Given the description of an element on the screen output the (x, y) to click on. 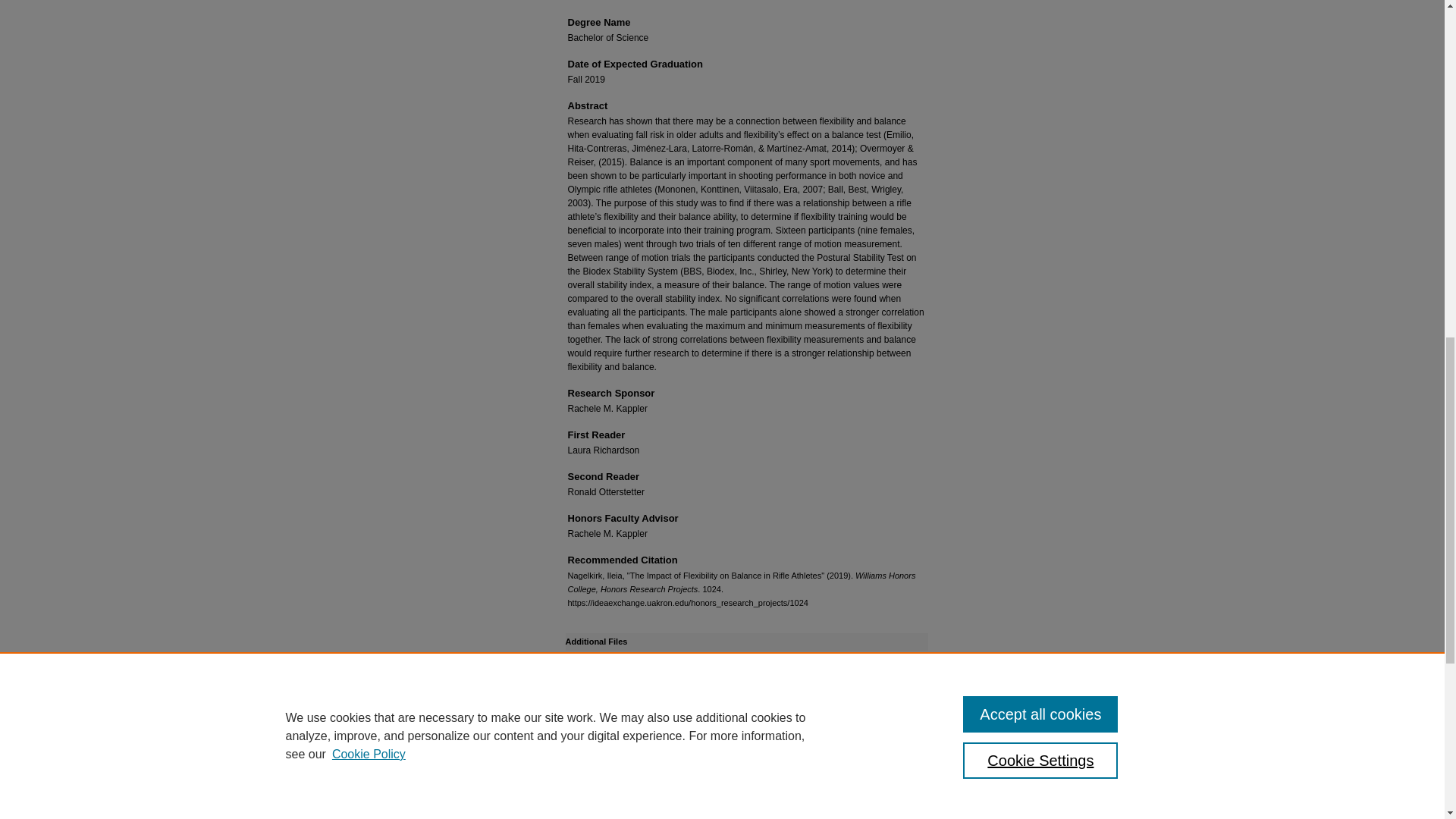
download Adobe Reader (817, 747)
Download (634, 762)
Signiture Page.pdf (607, 664)
